Given the description of an element on the screen output the (x, y) to click on. 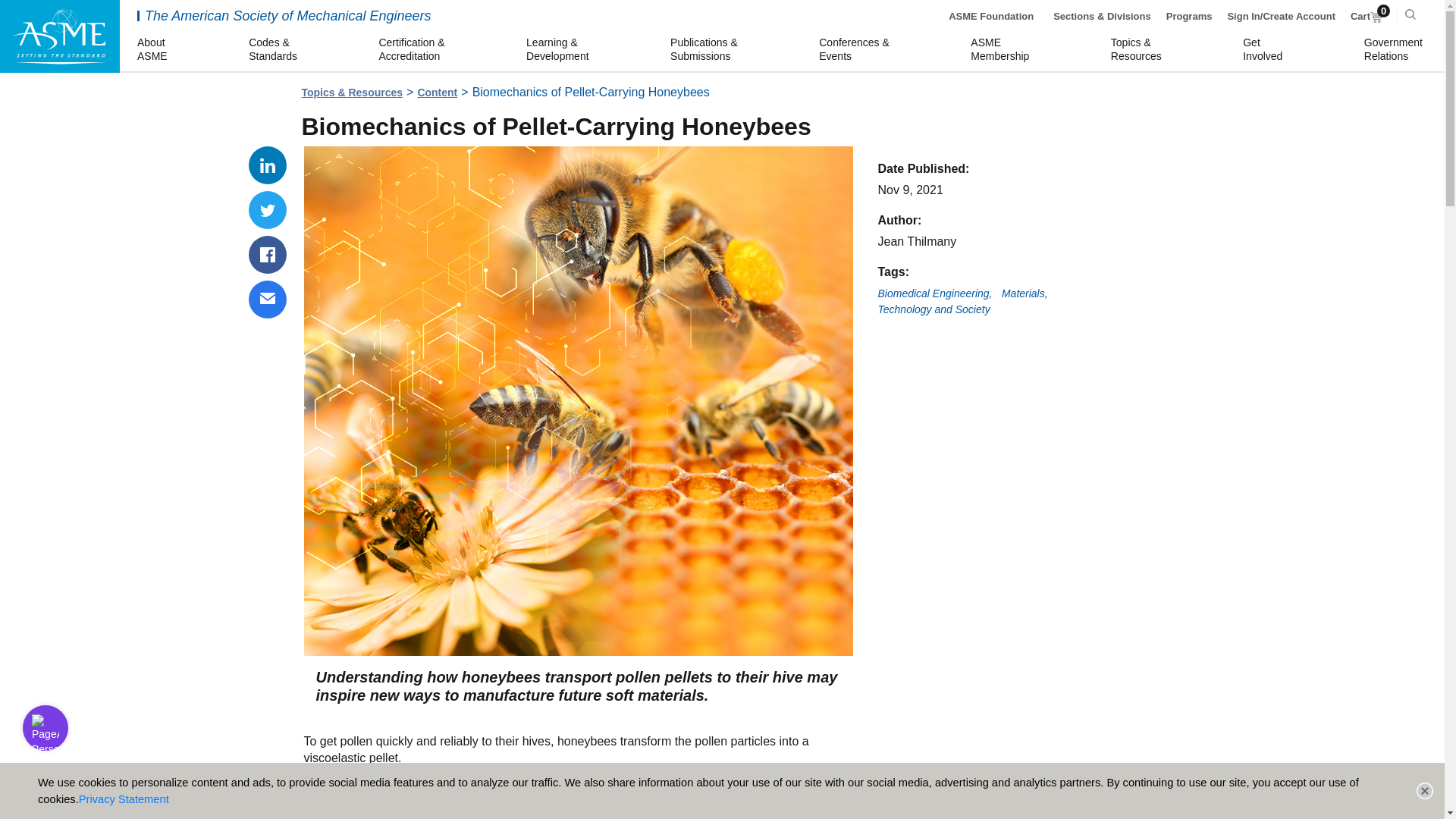
ASME (59, 36)
Share via email (153, 49)
Share on Twitter (267, 299)
Content (267, 209)
Technology and Society (1366, 16)
ASME Foundation (436, 92)
Share on Facebook (933, 309)
Materials (991, 16)
Biomedical Engineering (1395, 49)
Programs (267, 254)
Share on LinkedIn (1024, 293)
